Given the description of an element on the screen output the (x, y) to click on. 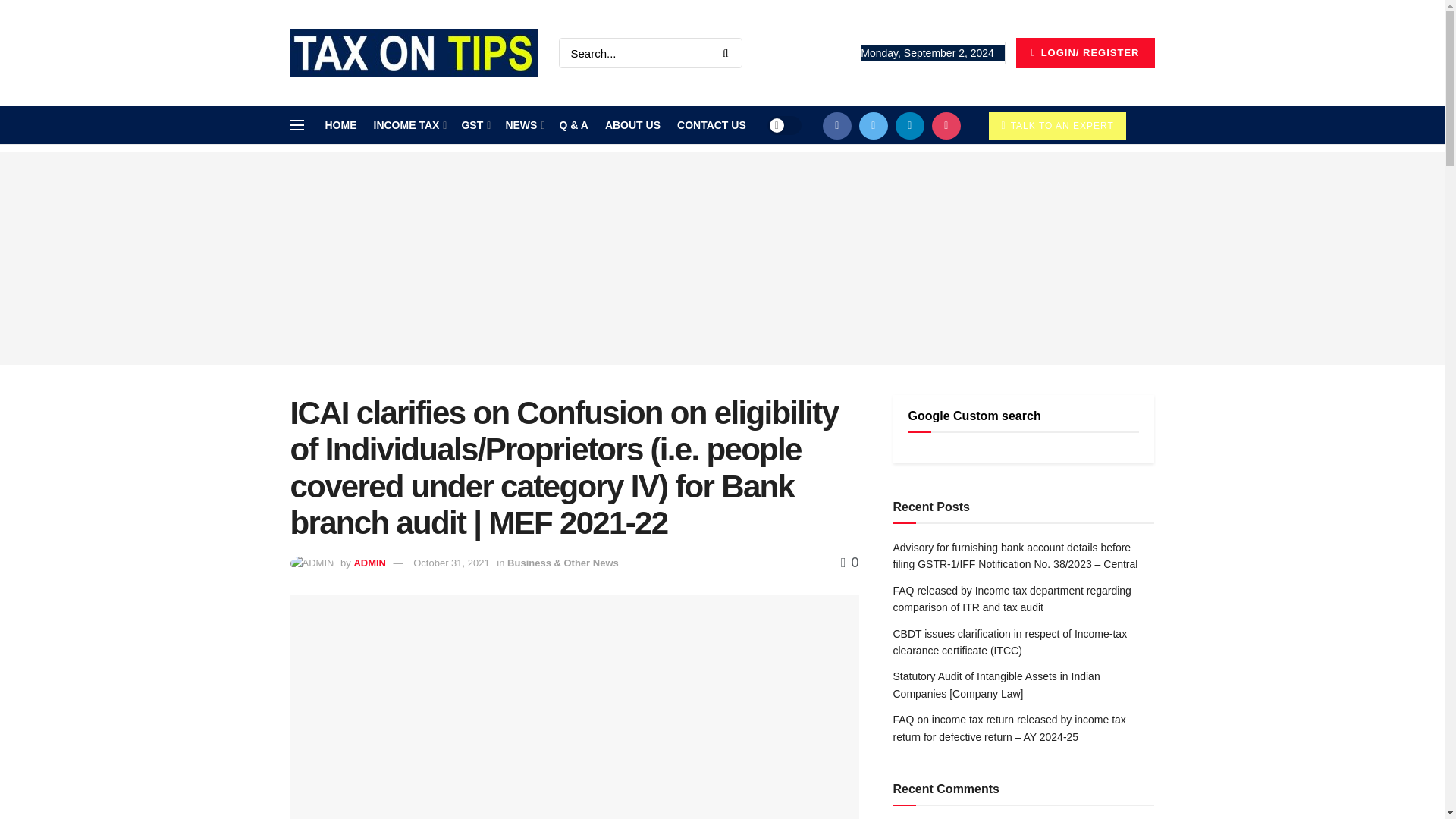
CONTACT US (711, 124)
TALK TO AN EXPERT (1056, 125)
NEWS (523, 124)
HOME (340, 124)
ABOUT US (633, 124)
GST (474, 124)
INCOME TAX (408, 124)
